Given the description of an element on the screen output the (x, y) to click on. 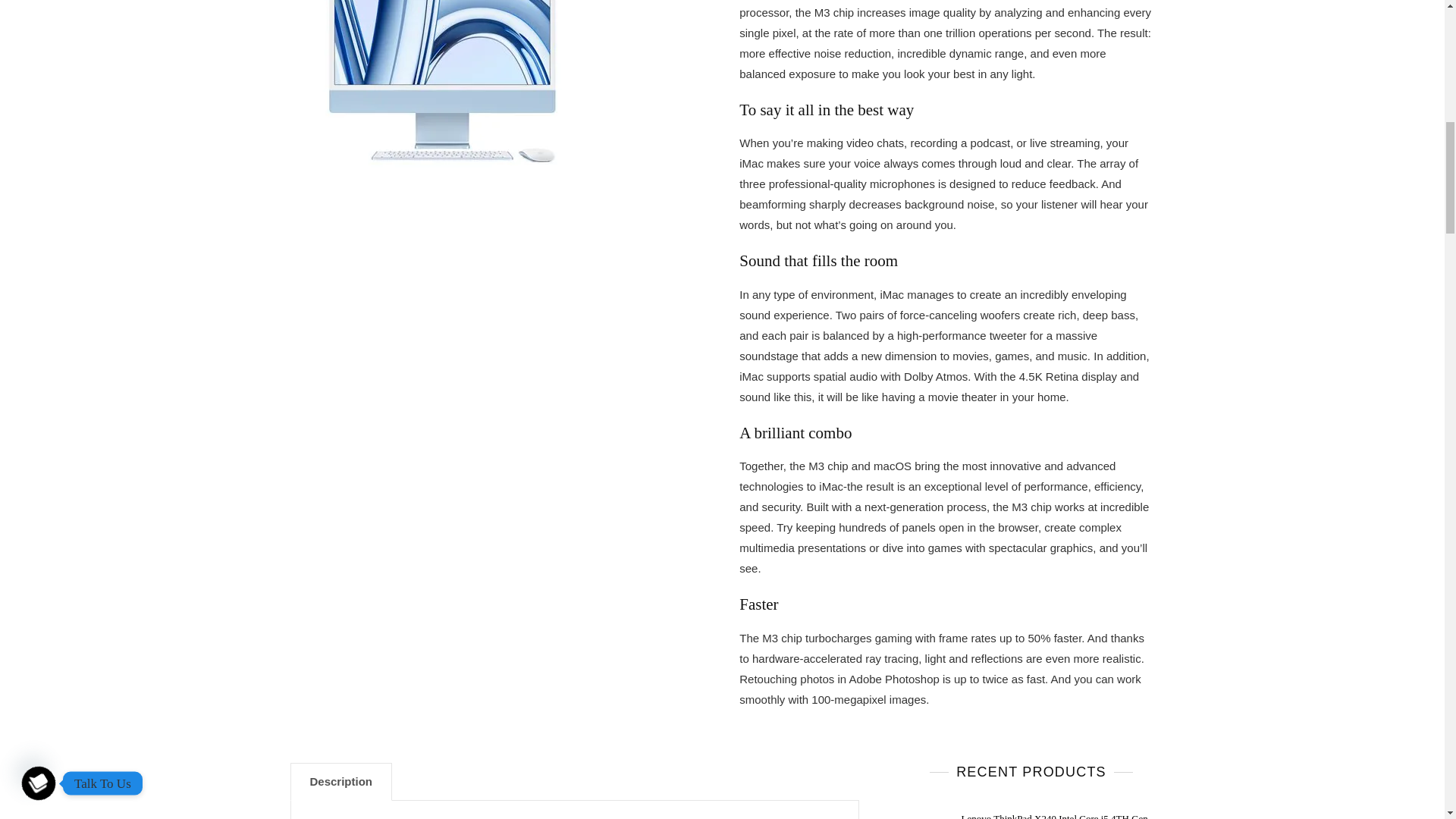
Apple IMac MQRQ3BA (440, 86)
